Given the description of an element on the screen output the (x, y) to click on. 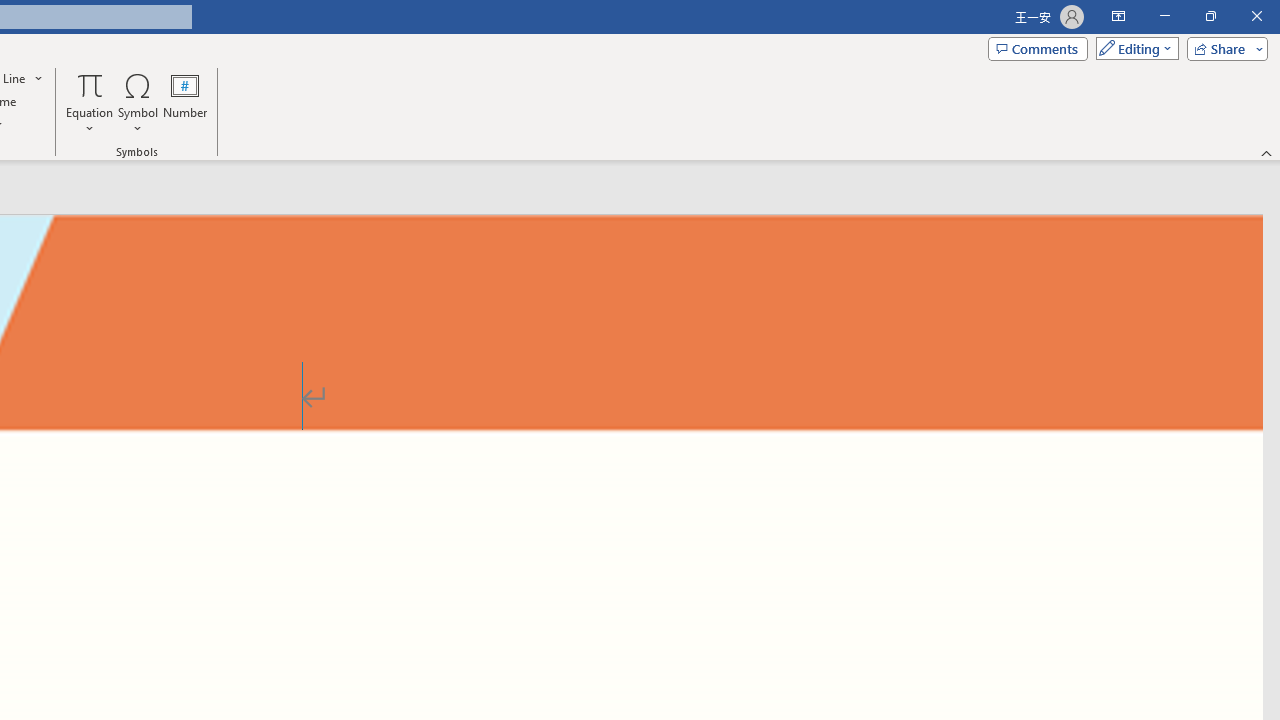
Symbol (138, 102)
Number... (185, 102)
